Given the description of an element on the screen output the (x, y) to click on. 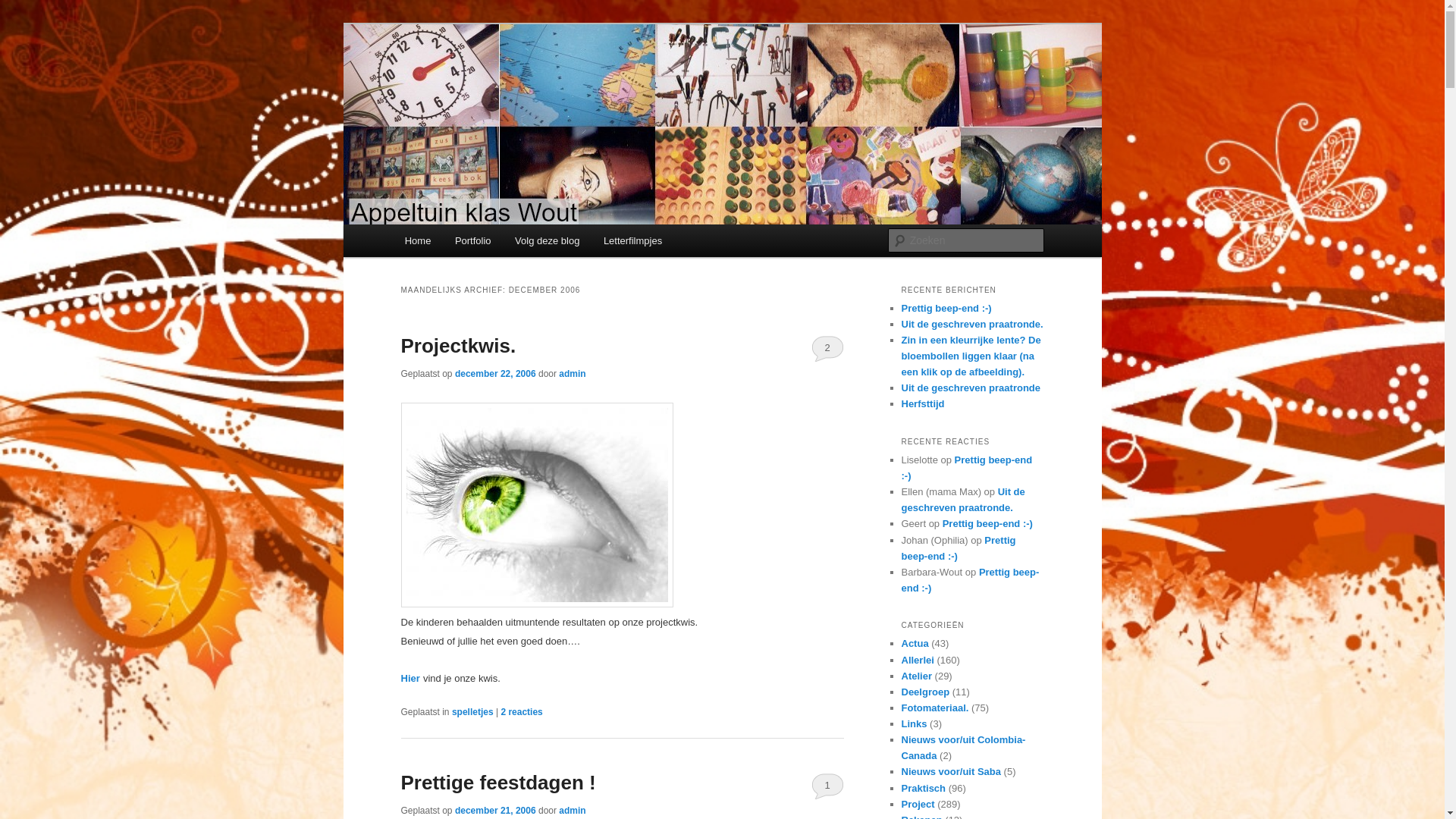
Project Element type: text (917, 803)
Appeltuin klas Wout / Barbara Element type: text (561, 78)
Nieuws voor/uit Colombia-Canada Element type: text (962, 747)
Actua Element type: text (914, 643)
Allerlei Element type: text (916, 659)
Praktisch Element type: text (922, 787)
2 Element type: text (827, 347)
admin Element type: text (571, 373)
Prettig beep-end :-) Element type: text (969, 579)
Portfolio Element type: text (472, 240)
Home Element type: text (417, 240)
Uit de geschreven praatronde Element type: text (970, 387)
Uit de geschreven praatronde. Element type: text (971, 323)
Letterfilmpjes Element type: text (632, 240)
Prettige feestdagen ! Element type: text (497, 782)
2 reacties Element type: text (521, 711)
Nieuws voor/uit Saba Element type: text (950, 771)
admin Element type: text (571, 810)
Deelgroep Element type: text (924, 691)
Volg deze blog Element type: text (546, 240)
Prettig beep-end :-) Element type: text (945, 307)
1 Element type: text (827, 785)
december 21, 2006 Element type: text (495, 810)
Projectkwis. Element type: text (457, 345)
Links Element type: text (913, 723)
december 22, 2006 Element type: text (495, 373)
Hier Element type: text (409, 678)
Uit de geschreven praatronde. Element type: text (962, 499)
Spring naar de primaire inhoud Element type: text (414, 224)
Herfsttijd Element type: text (922, 403)
Zoeken Element type: text (25, 8)
Prettig beep-end :-) Element type: text (987, 523)
spelletjes Element type: text (472, 711)
Atelier Element type: text (915, 675)
Prettig beep-end :-) Element type: text (957, 547)
Fotomateriaal. Element type: text (934, 707)
Prettig beep-end :-) Element type: text (966, 467)
